Given the description of an element on the screen output the (x, y) to click on. 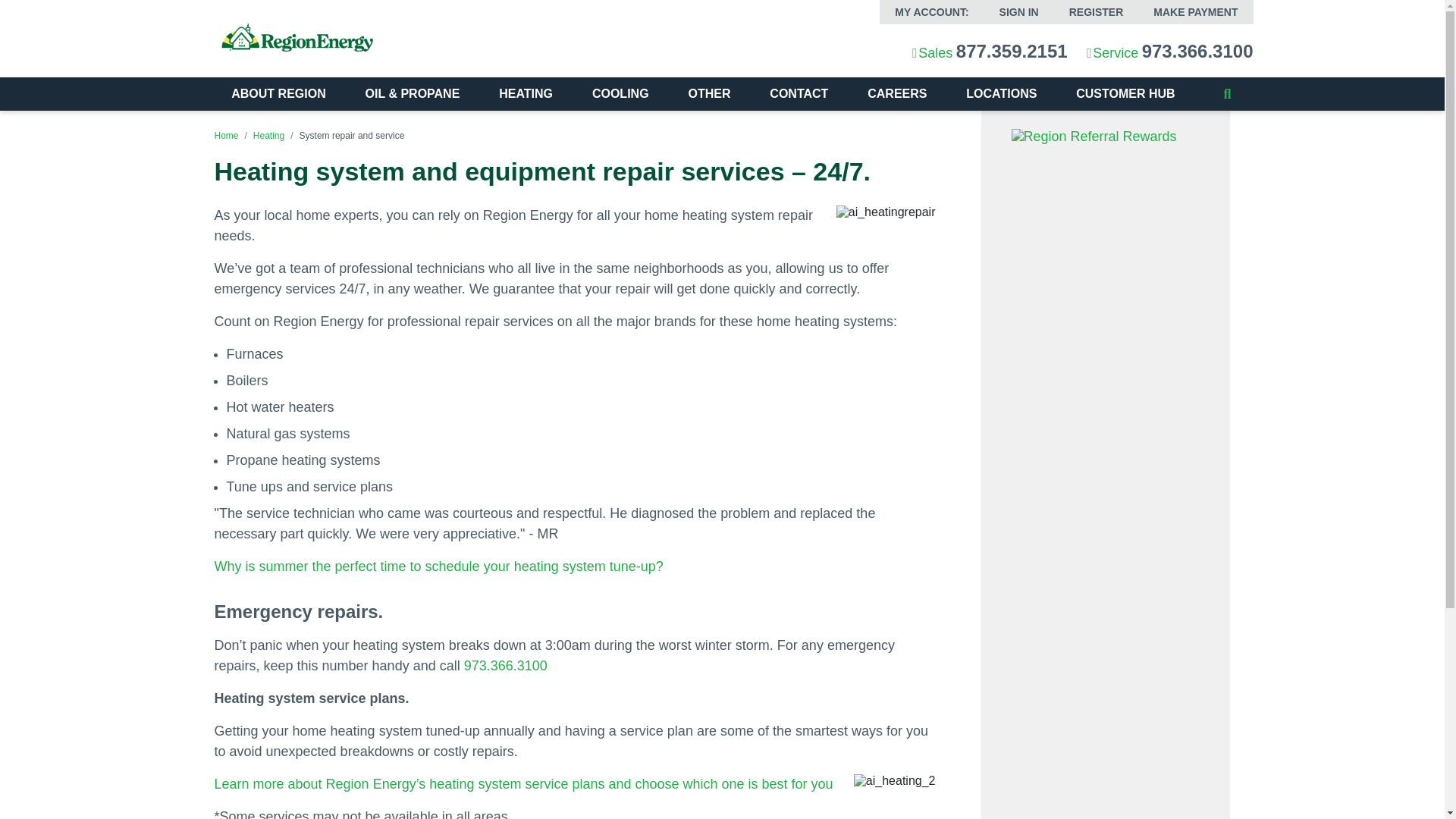
REGISTER (1096, 12)
MAKE PAYMENT (1195, 12)
973.366.3100 (1197, 51)
ABOUT REGION (277, 93)
SIGN IN (1019, 12)
877.359.2151 (1011, 51)
